Given the description of an element on the screen output the (x, y) to click on. 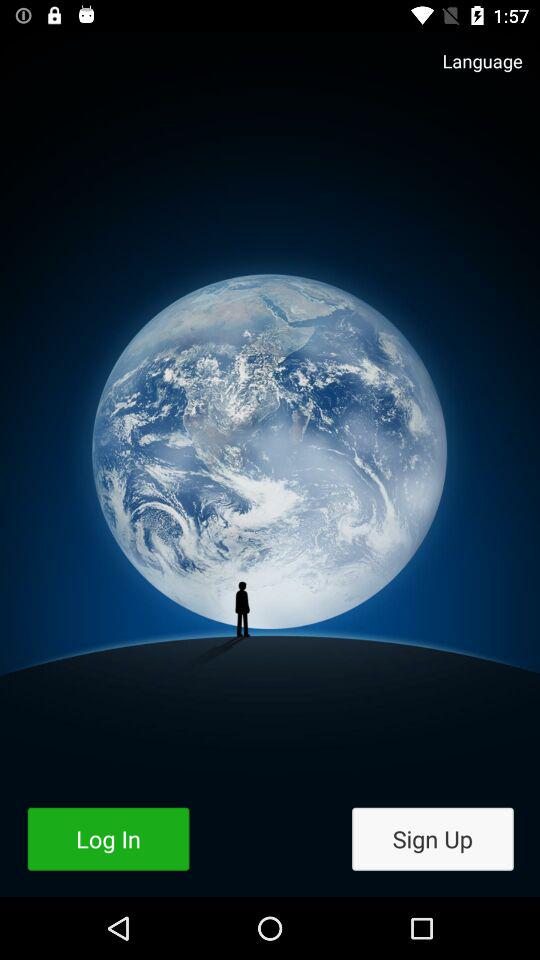
flip to the log in item (108, 838)
